Given the description of an element on the screen output the (x, y) to click on. 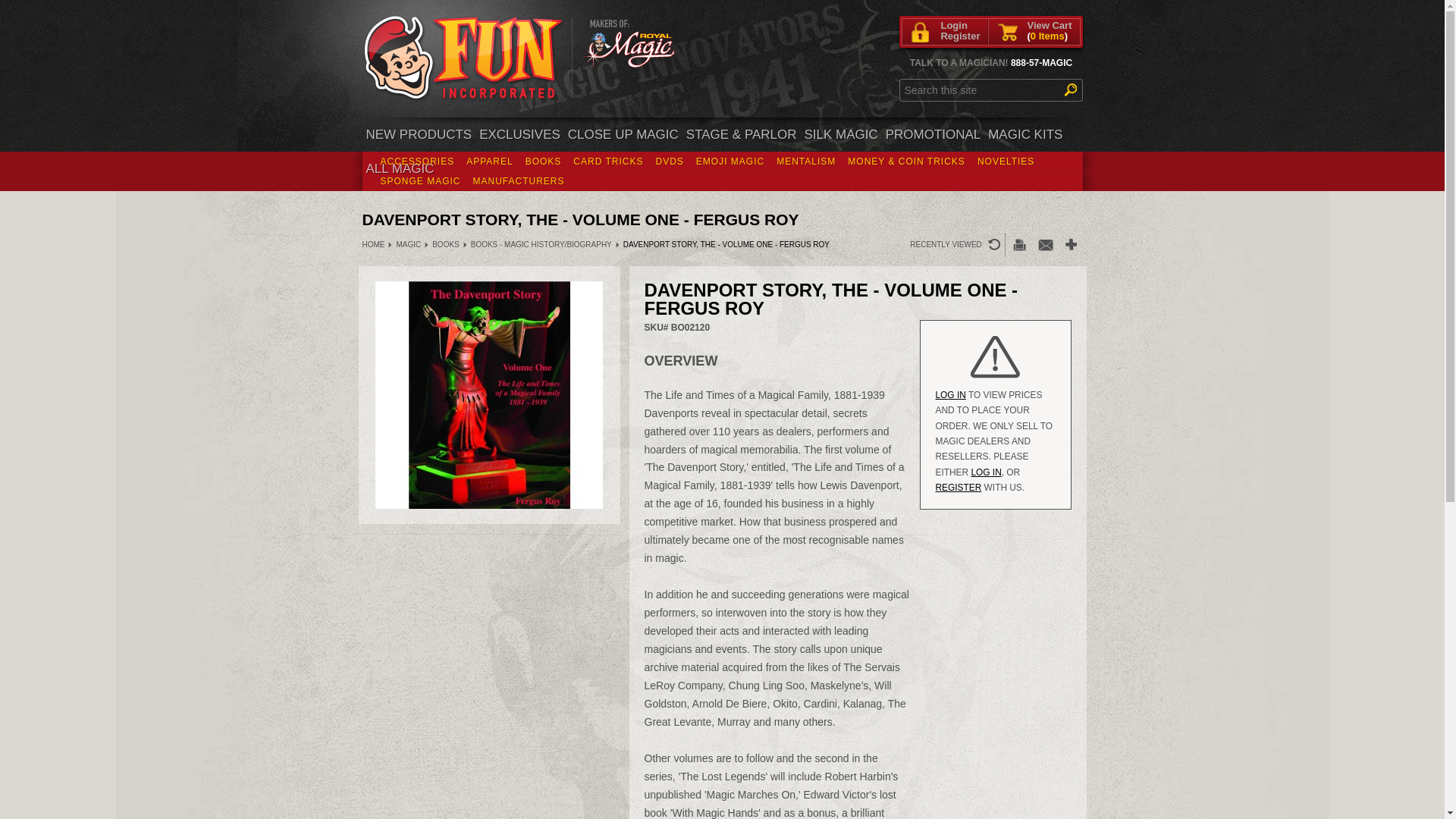
DVDS (668, 161)
PROMOTIONAL (933, 134)
EMOJI MAGIC (730, 161)
CARD TRICKS (608, 161)
BOOKS (543, 161)
Login (959, 25)
SILK MAGIC (839, 134)
ALL MAGIC (400, 168)
Register (959, 36)
EXCLUSIVES (520, 134)
ACCESSORIES (417, 161)
APPAREL (489, 161)
MAGIC KITS (1024, 134)
CLOSE UP MAGIC (623, 134)
Back to Home (464, 58)
